Given the description of an element on the screen output the (x, y) to click on. 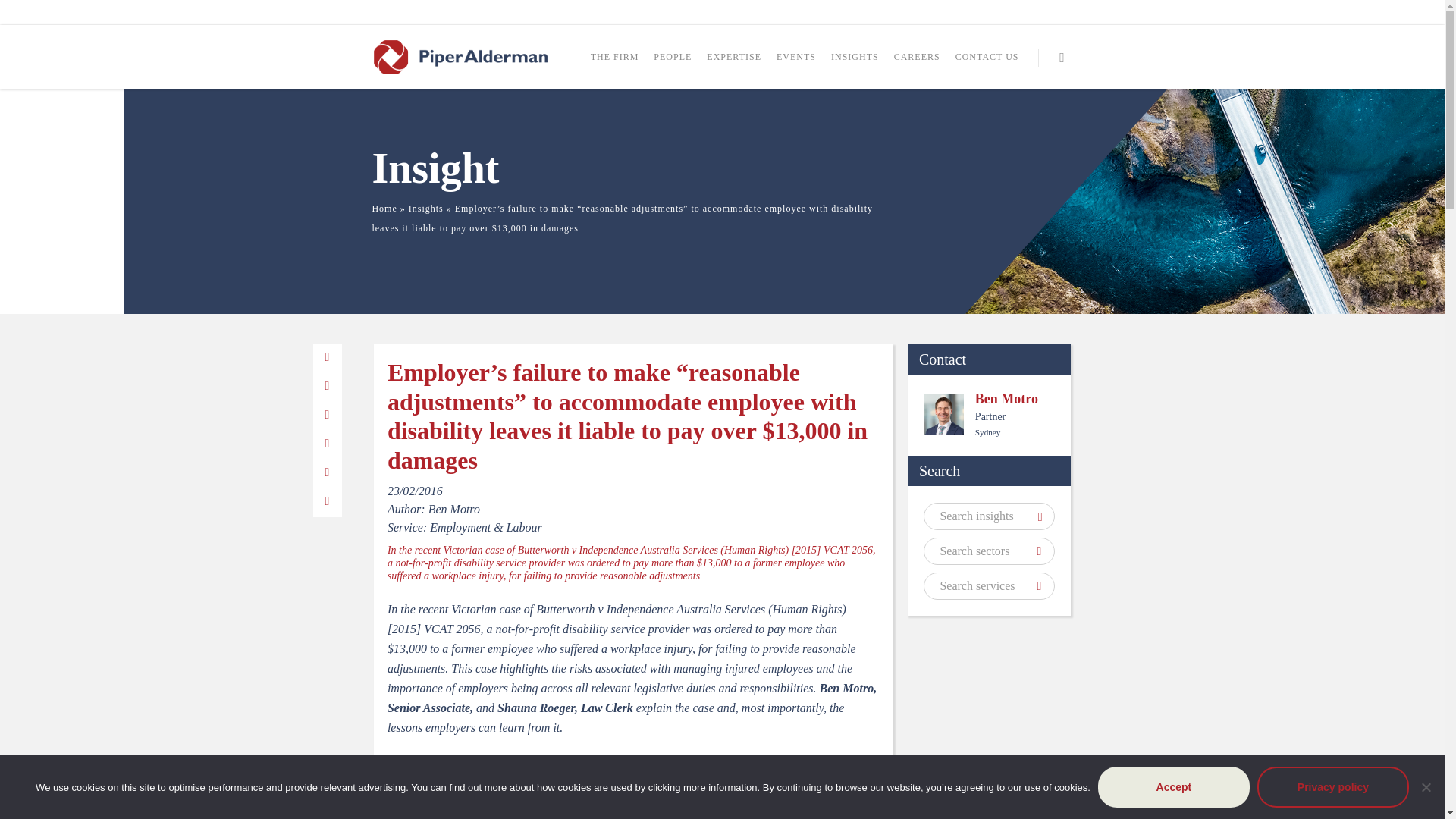
PEOPLE (672, 64)
EXPERTISE (733, 64)
THE FIRM (615, 64)
